Given the description of an element on the screen output the (x, y) to click on. 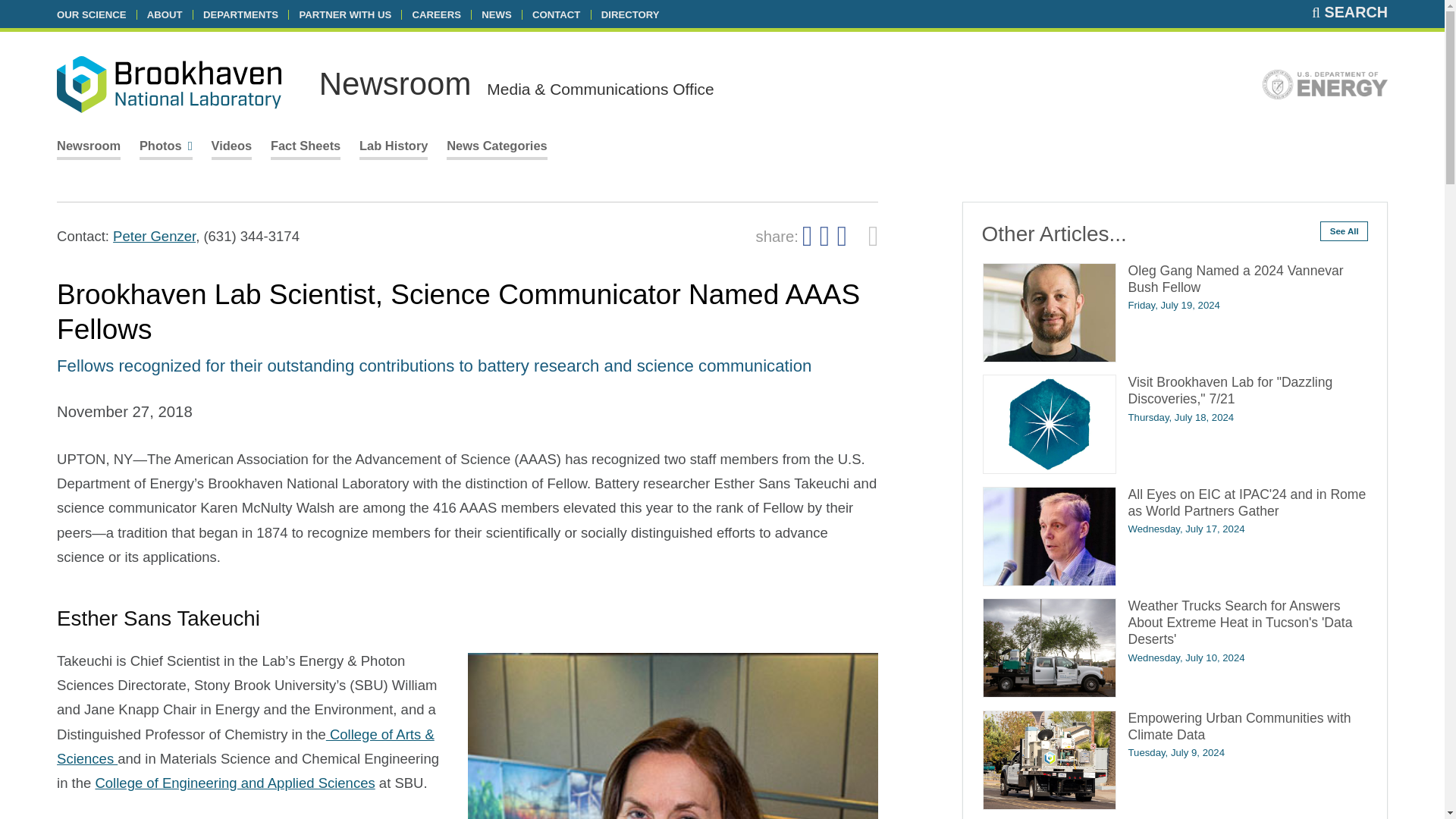
SEARCH (1349, 12)
BNL Homepage (168, 87)
ABOUT (165, 14)
DEPARTMENTS (240, 14)
BNL Homepage (168, 84)
PARTNER WITH US (344, 14)
DIRECTORY (630, 14)
NEWS (496, 14)
OUR SCIENCE (90, 14)
DOE Office of Science (1324, 87)
DOE Office of Science (1324, 84)
CONTACT (555, 14)
CAREERS (436, 14)
